Given the description of an element on the screen output the (x, y) to click on. 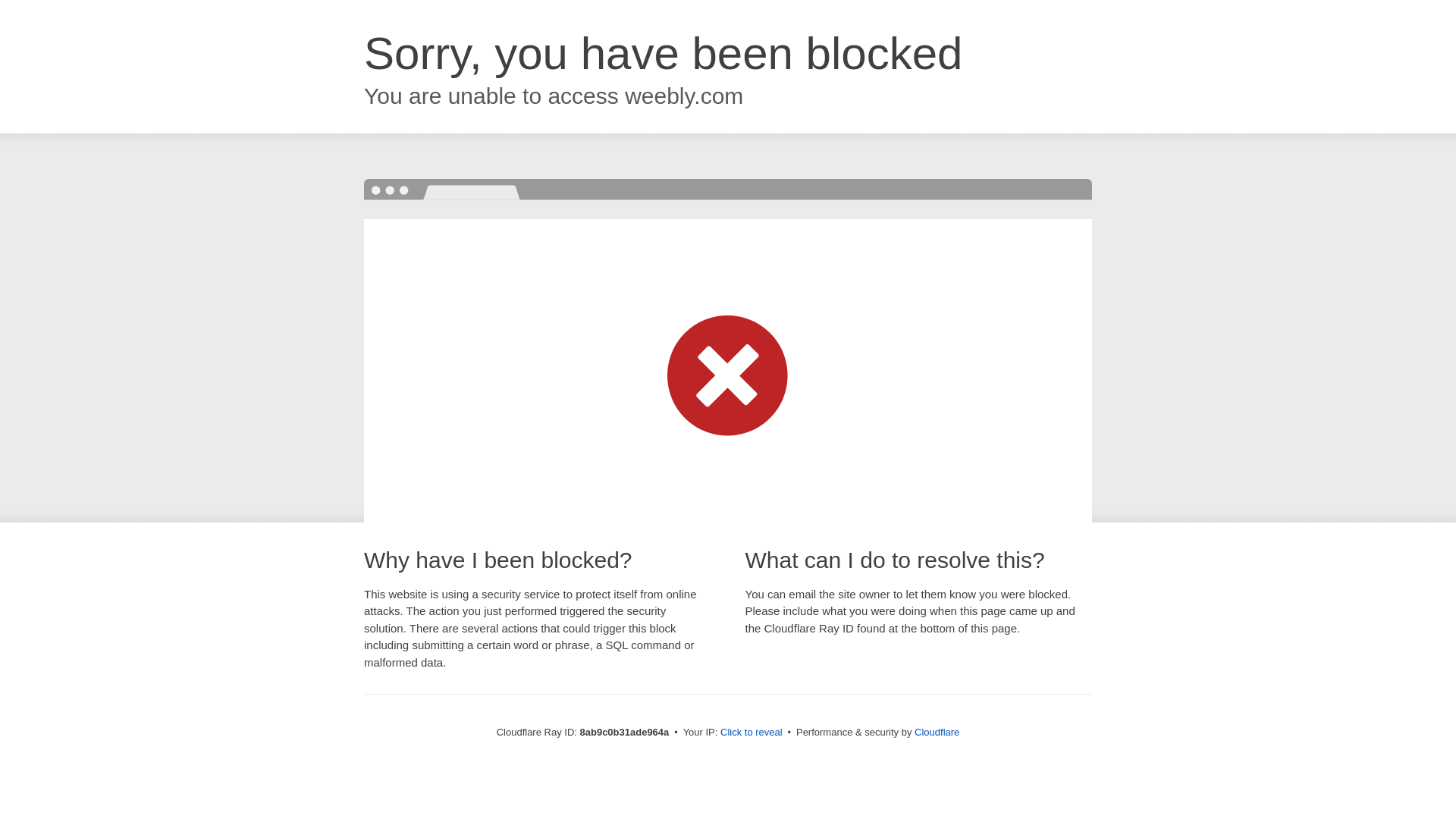
Click to reveal (751, 732)
Cloudflare (936, 731)
